Given the description of an element on the screen output the (x, y) to click on. 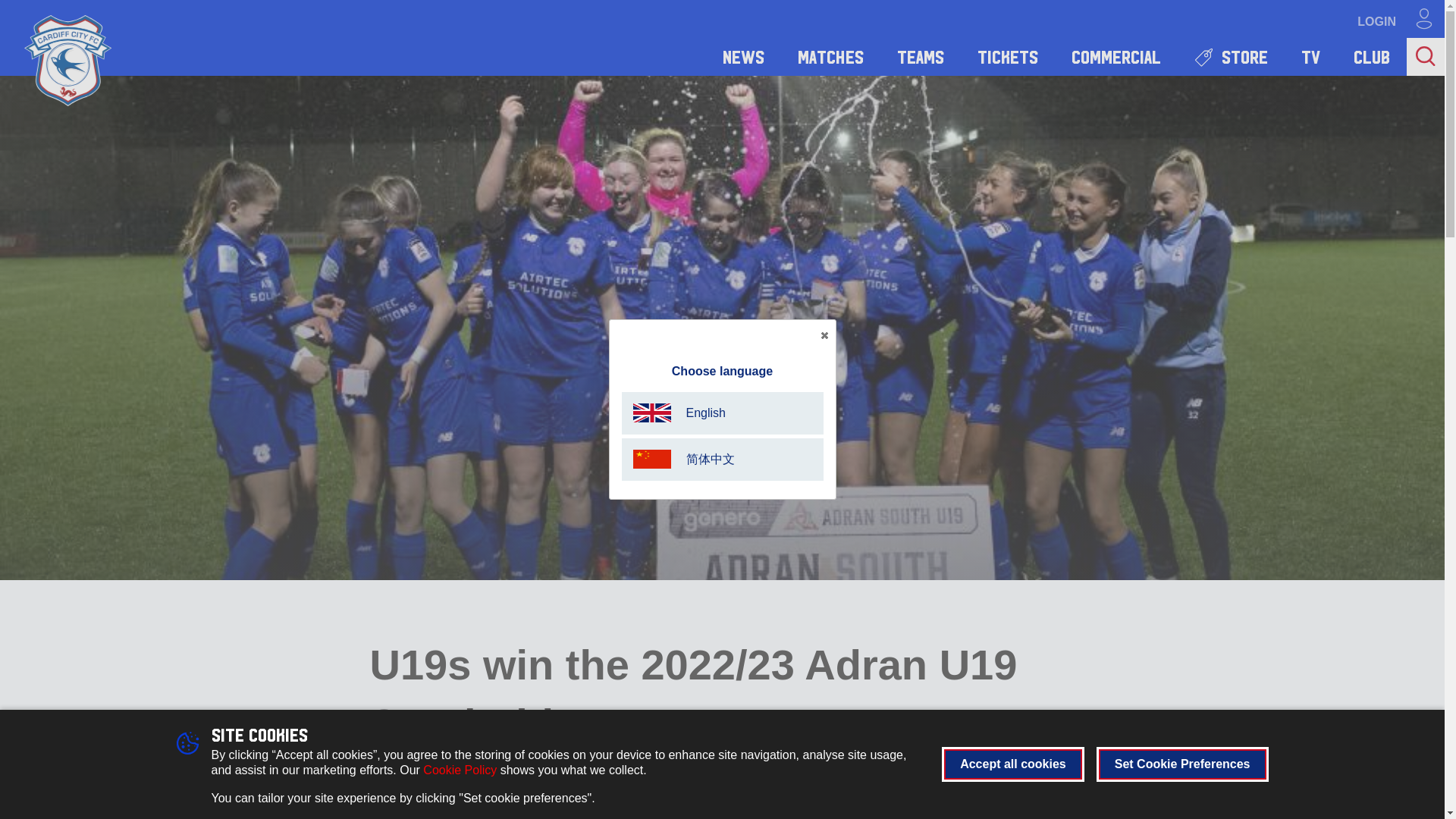
TICKETS (1007, 56)
MATCHES (830, 56)
STORE (1230, 56)
Close (823, 335)
NEWS (743, 56)
COMMERCIAL (1115, 56)
TEAMS (920, 56)
3rd party ad content (1167, 816)
